Given the description of an element on the screen output the (x, y) to click on. 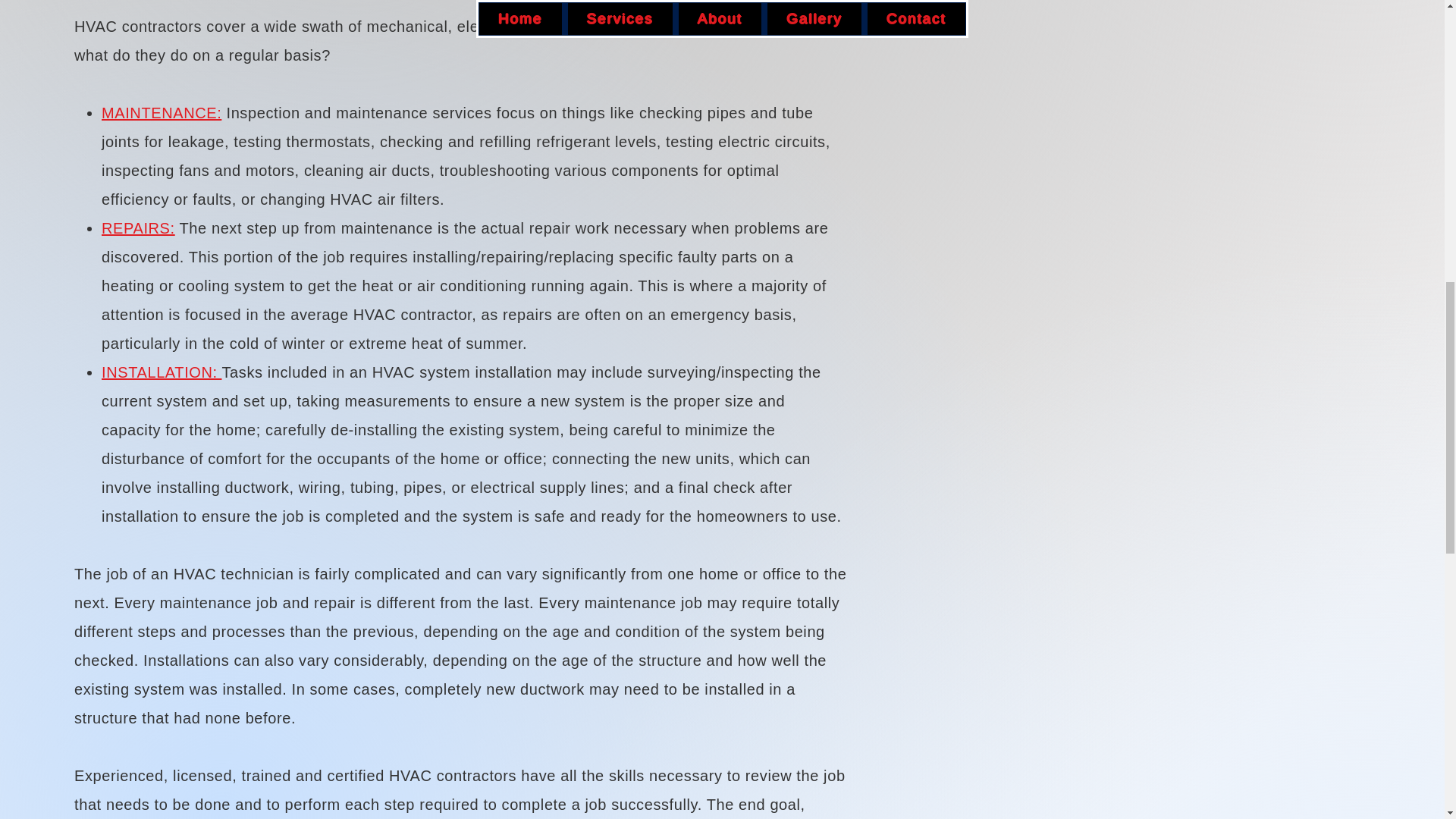
REPAIRS: (137, 228)
INSTALLATION: (161, 371)
MAINTENANCE: (161, 112)
